Given the description of an element on the screen output the (x, y) to click on. 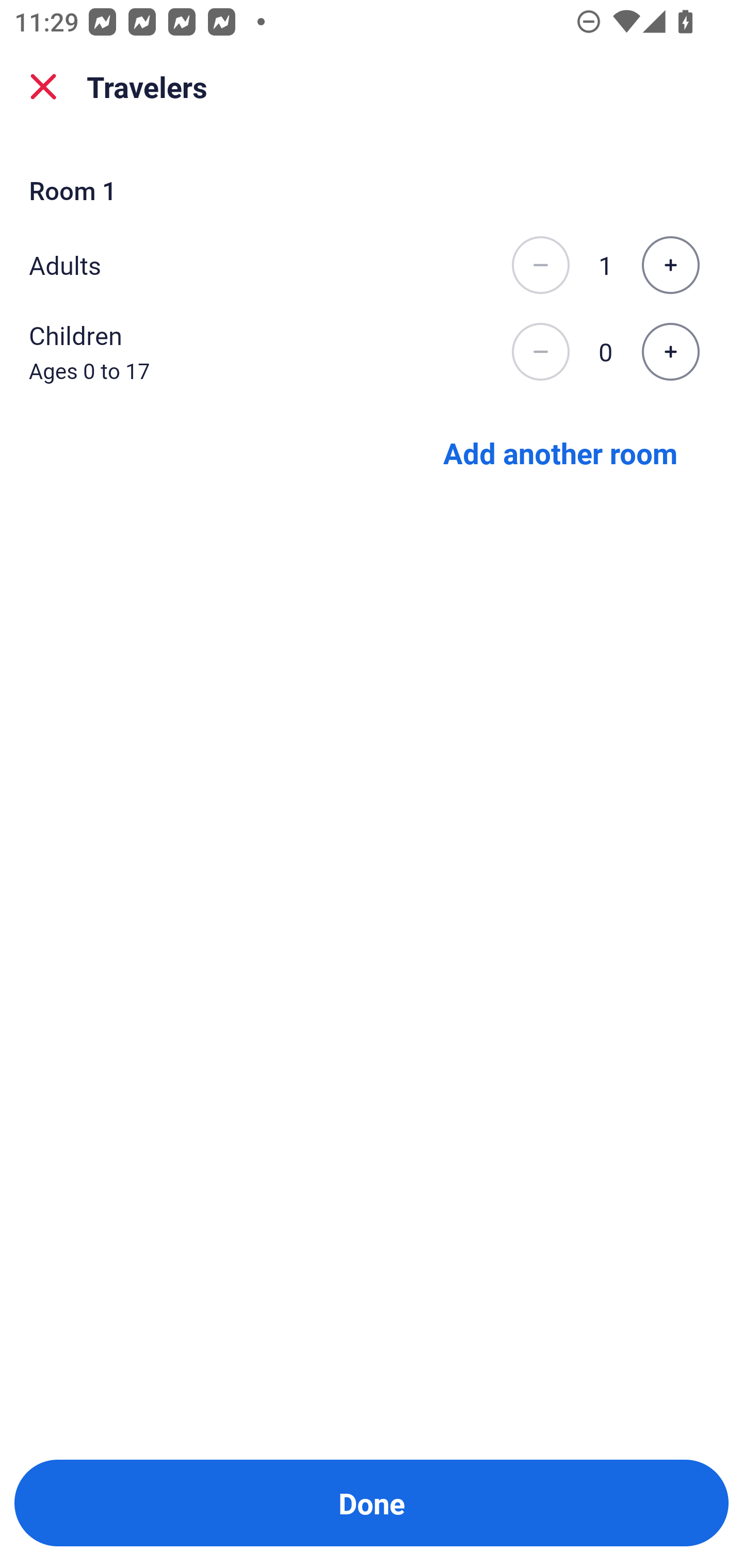
close (43, 86)
Decrease the number of adults (540, 264)
Increase the number of adults (670, 264)
Decrease the number of children (540, 351)
Increase the number of children (670, 351)
Add another room (560, 452)
Done (371, 1502)
